Given the description of an element on the screen output the (x, y) to click on. 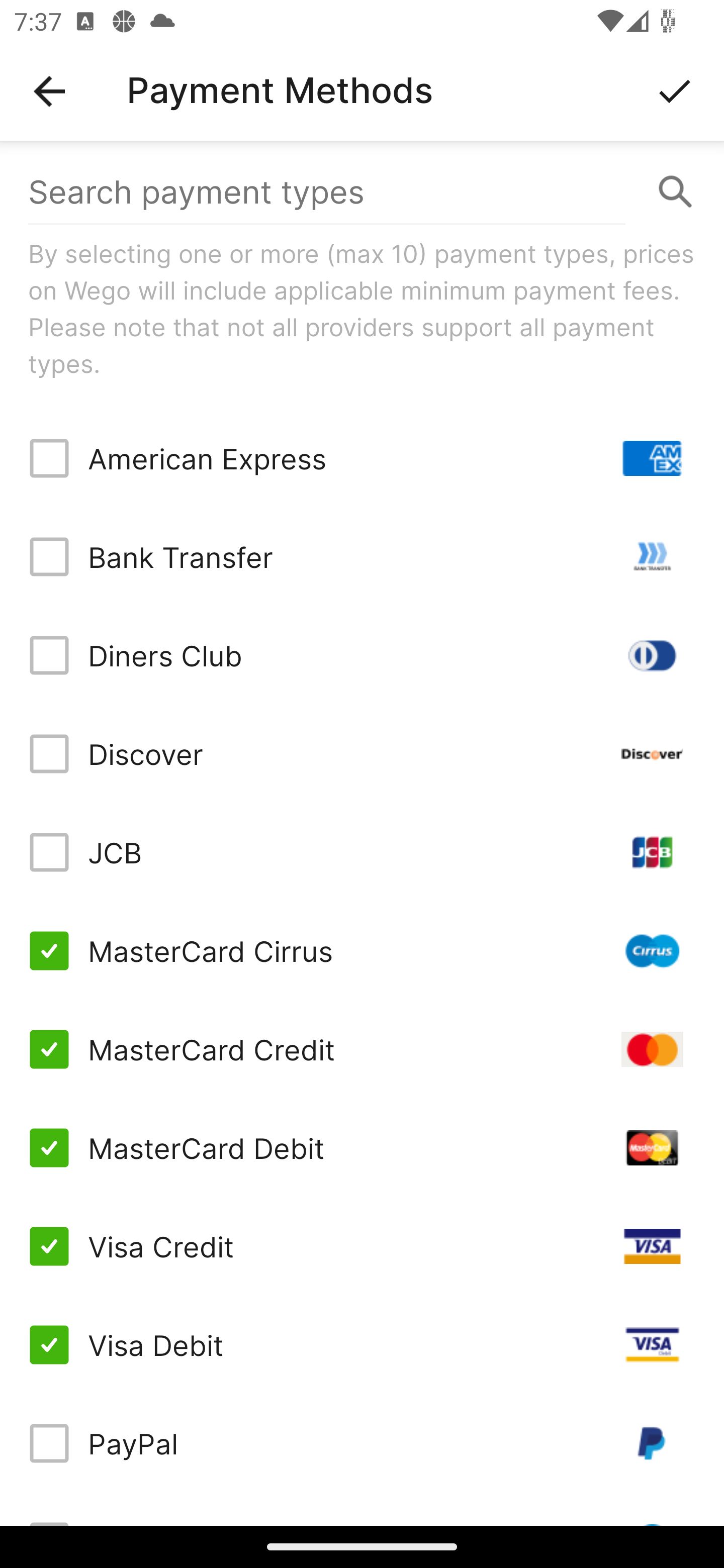
Search payment types  (361, 191)
American Express (362, 458)
Bank Transfer (362, 557)
Diners Club (362, 655)
Discover (362, 753)
JCB (362, 851)
MasterCard Cirrus (362, 950)
MasterCard Credit (362, 1049)
MasterCard Debit (362, 1147)
Visa Credit (362, 1245)
Visa Debit (362, 1344)
PayPal (362, 1442)
